Given the description of an element on the screen output the (x, y) to click on. 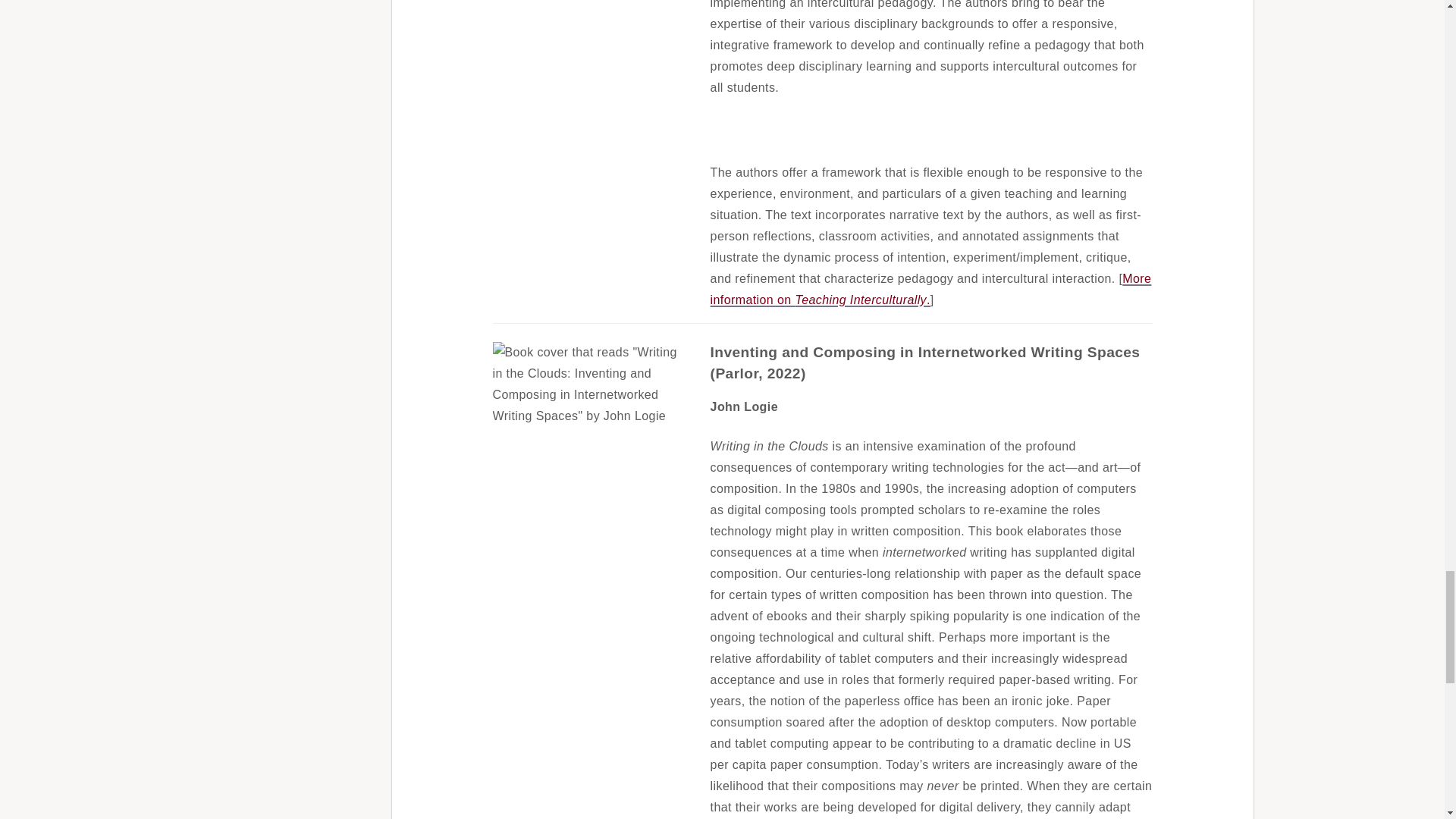
More information on Teaching Interculturally. (930, 288)
